Given the description of an element on the screen output the (x, y) to click on. 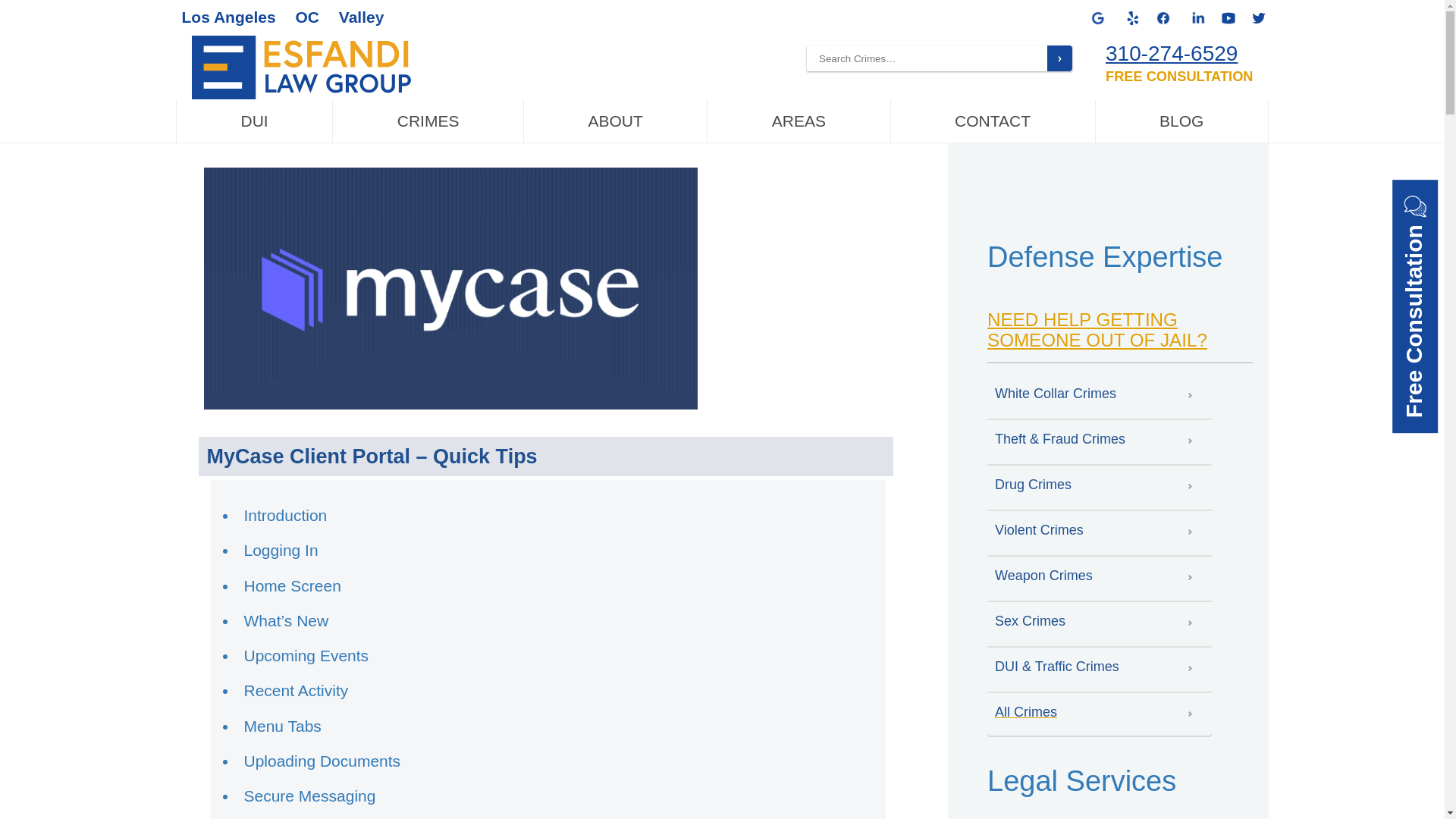
DUI (254, 121)
Los Angeles (229, 16)
OC (306, 16)
310-274-6529 (1171, 53)
Go (1058, 58)
CRIMES (428, 121)
Valley (361, 16)
